Given the description of an element on the screen output the (x, y) to click on. 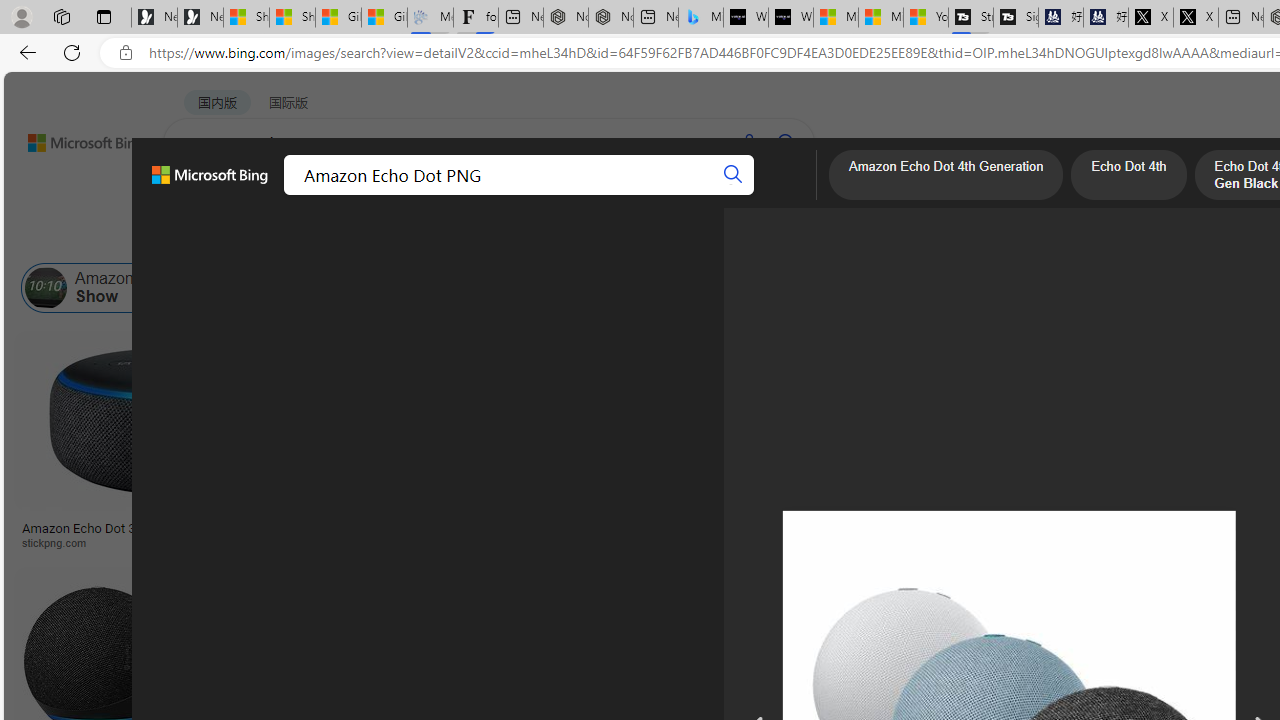
Color (305, 237)
Echo Dot with Clock (995, 460)
Smart Speaker Alexa (995, 521)
MAPS (698, 195)
Image size (221, 237)
IMAGES (274, 196)
Layout (443, 237)
MORE (779, 195)
Image size (222, 237)
Dropdown Menu (779, 195)
